Given the description of an element on the screen output the (x, y) to click on. 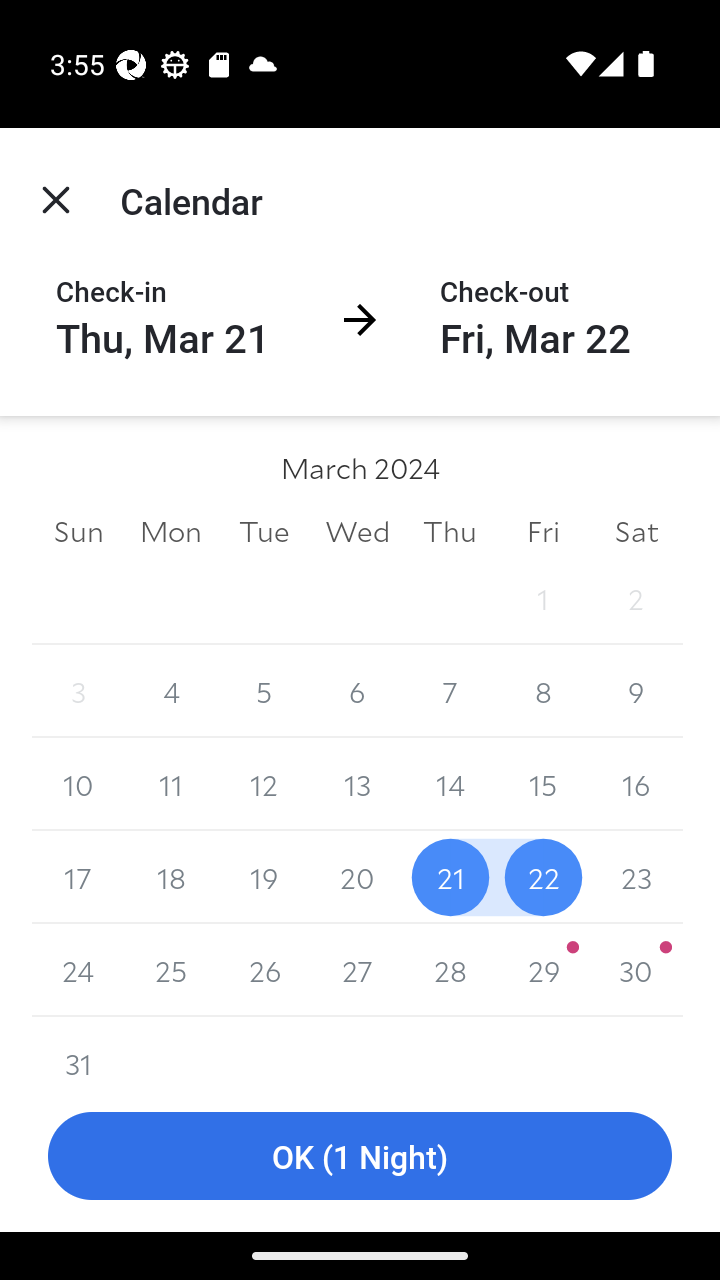
Sun (78, 530)
Mon (171, 530)
Tue (264, 530)
Wed (357, 530)
Thu (449, 530)
Fri (542, 530)
Sat (636, 530)
1 1 March 2024 (542, 598)
2 2 March 2024 (636, 598)
3 3 March 2024 (78, 691)
4 4 March 2024 (171, 691)
5 5 March 2024 (264, 691)
6 6 March 2024 (357, 691)
7 7 March 2024 (449, 691)
8 8 March 2024 (542, 691)
9 9 March 2024 (636, 691)
10 10 March 2024 (78, 784)
11 11 March 2024 (171, 784)
12 12 March 2024 (264, 784)
13 13 March 2024 (357, 784)
14 14 March 2024 (449, 784)
15 15 March 2024 (542, 784)
16 16 March 2024 (636, 784)
17 17 March 2024 (78, 877)
18 18 March 2024 (171, 877)
19 19 March 2024 (264, 877)
20 20 March 2024 (357, 877)
21 21 March 2024 (449, 877)
22 22 March 2024 (542, 877)
23 23 March 2024 (636, 877)
24 24 March 2024 (78, 970)
25 25 March 2024 (171, 970)
26 26 March 2024 (264, 970)
27 27 March 2024 (357, 970)
28 28 March 2024 (449, 970)
29 29 March 2024 (542, 970)
30 30 March 2024 (636, 970)
31 31 March 2024 (78, 1048)
OK (1 Night) (359, 1156)
